Given the description of an element on the screen output the (x, y) to click on. 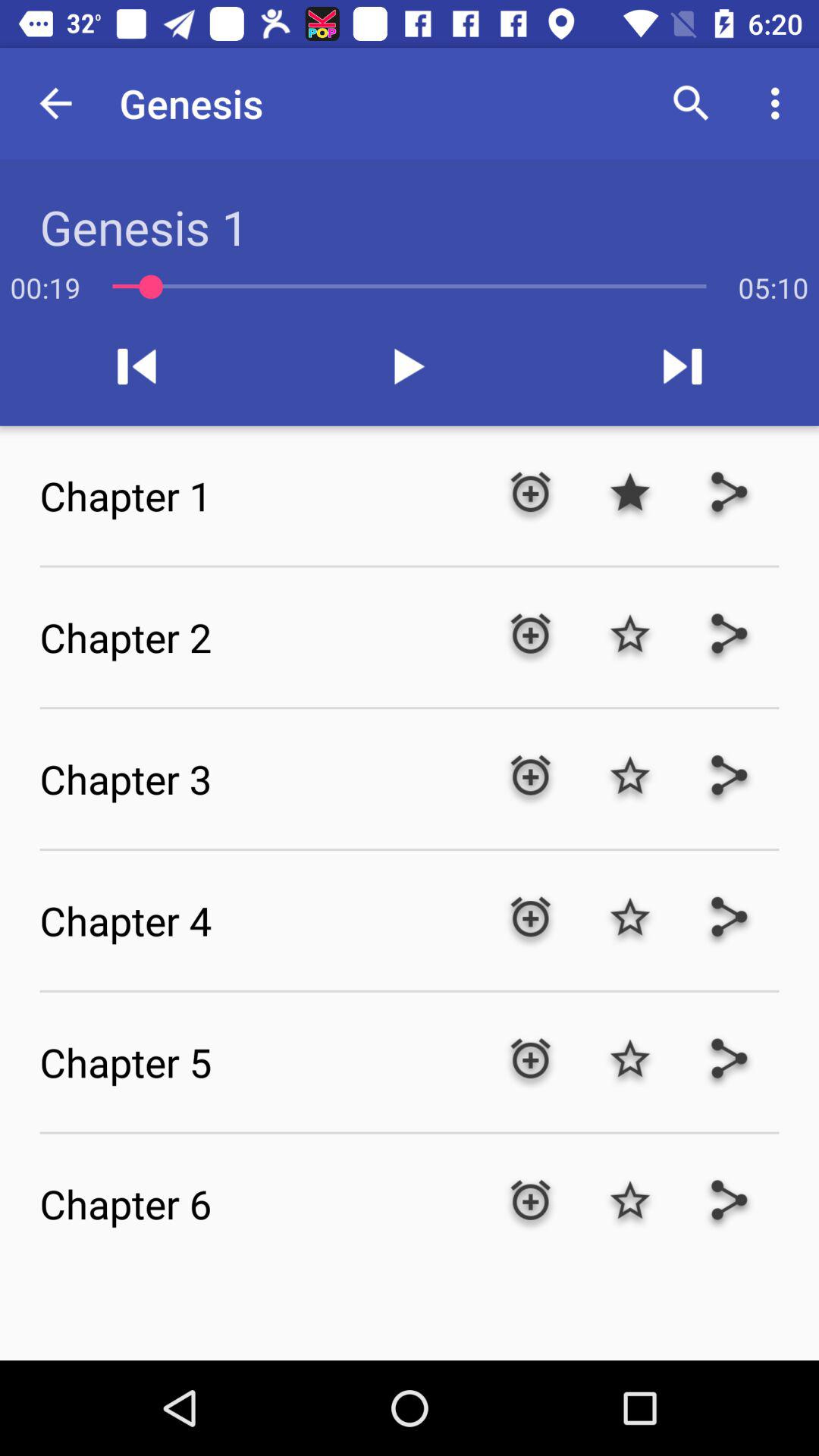
tap chapter 5 item (259, 1061)
